Given the description of an element on the screen output the (x, y) to click on. 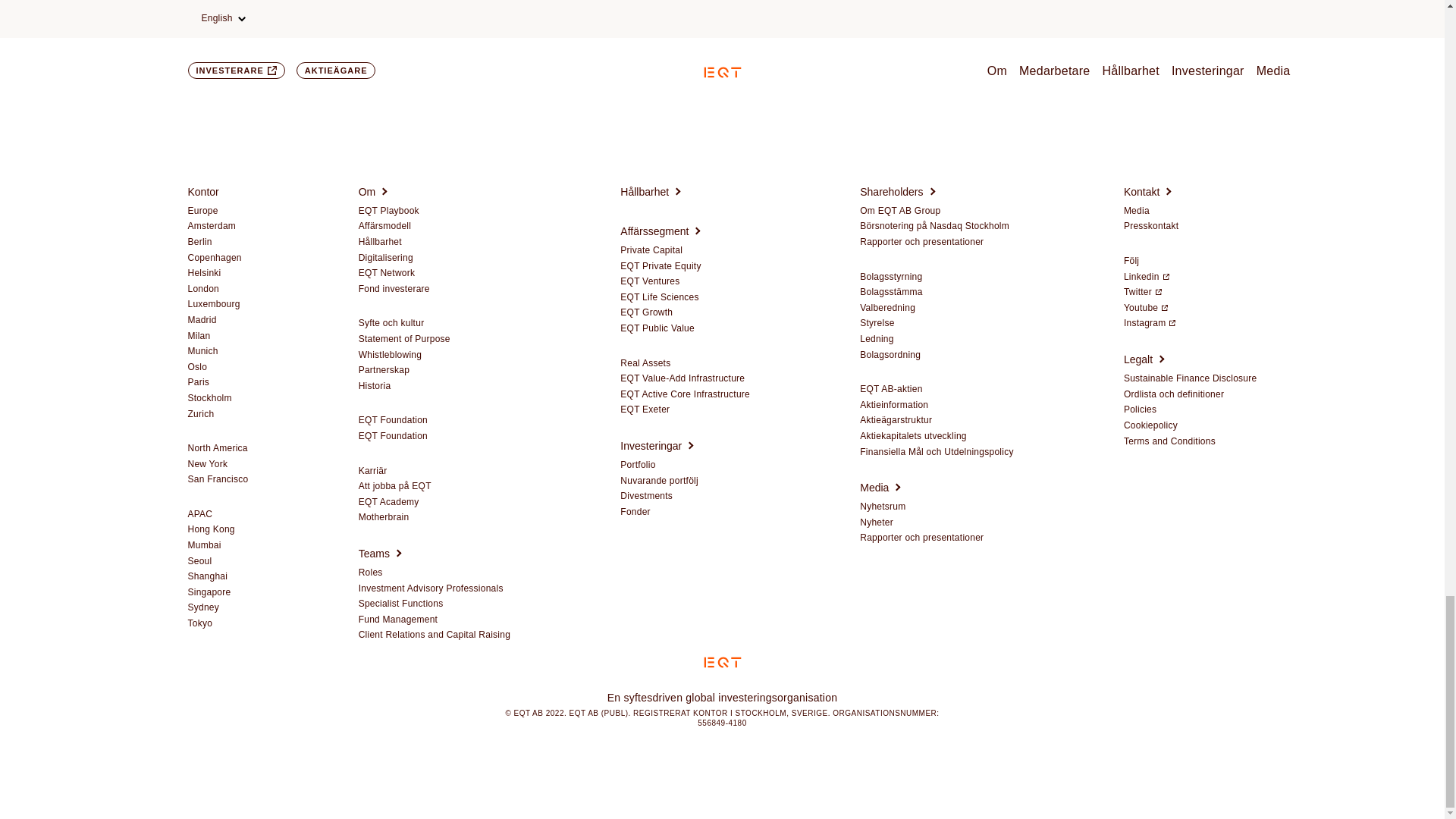
Luxembourg (213, 304)
San Francisco (217, 480)
Berlin (199, 242)
Stockholm (209, 398)
New York (207, 464)
Hong Kong (210, 530)
Zurich (200, 414)
Milan (199, 336)
Shanghai (207, 576)
Seoul (199, 562)
Helsinki (204, 273)
London (203, 289)
Oslo (197, 367)
Munich (202, 351)
EQT logo (722, 662)
